Given the description of an element on the screen output the (x, y) to click on. 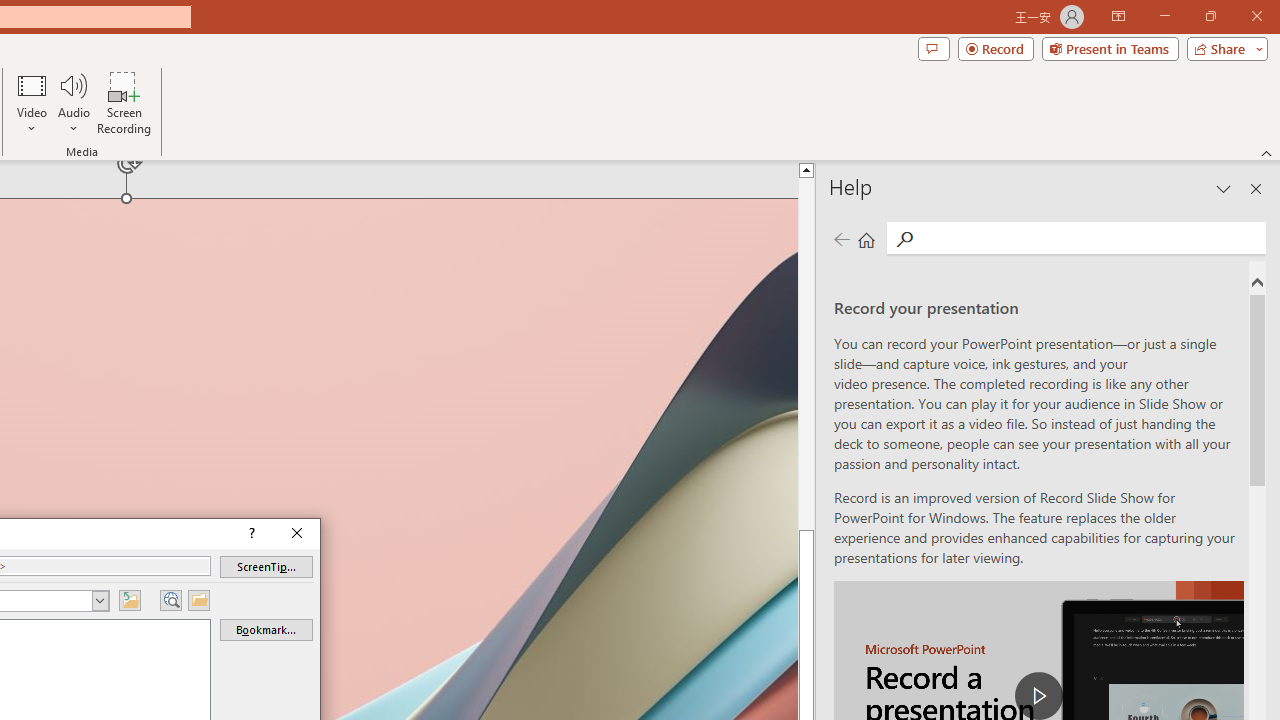
Video (31, 102)
play Record a Presentation (1038, 695)
Browse the Web (170, 600)
ScreenTip... (265, 566)
Up One Folder (129, 600)
Bookmark... (265, 629)
